Given the description of an element on the screen output the (x, y) to click on. 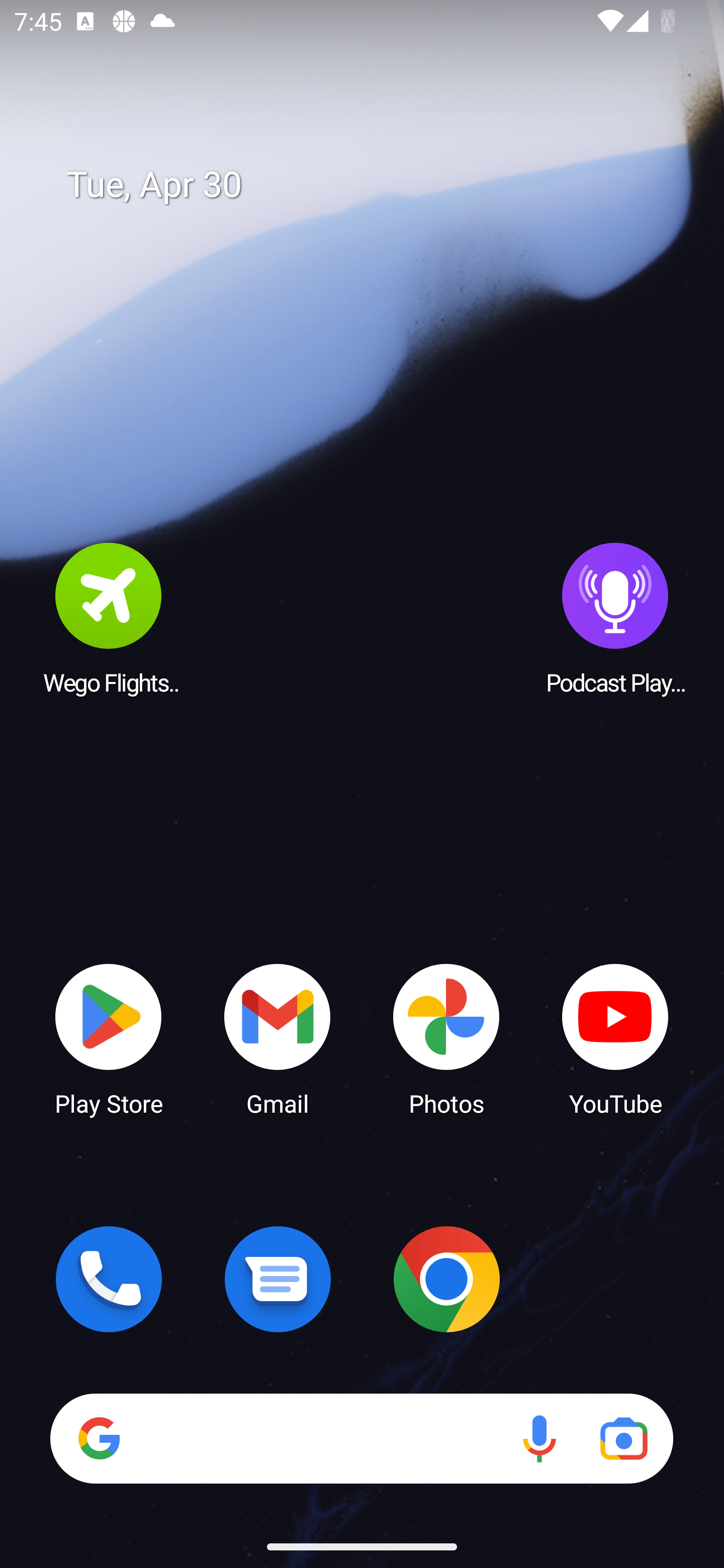
Tue, Apr 30 (375, 184)
Wego Flights & Hotels (108, 617)
Podcast Player (615, 617)
Play Store (108, 1038)
Gmail (277, 1038)
Photos (445, 1038)
YouTube (615, 1038)
Phone (108, 1279)
Messages (277, 1279)
Chrome (446, 1279)
Voice search (539, 1438)
Google Lens (623, 1438)
